Given the description of an element on the screen output the (x, y) to click on. 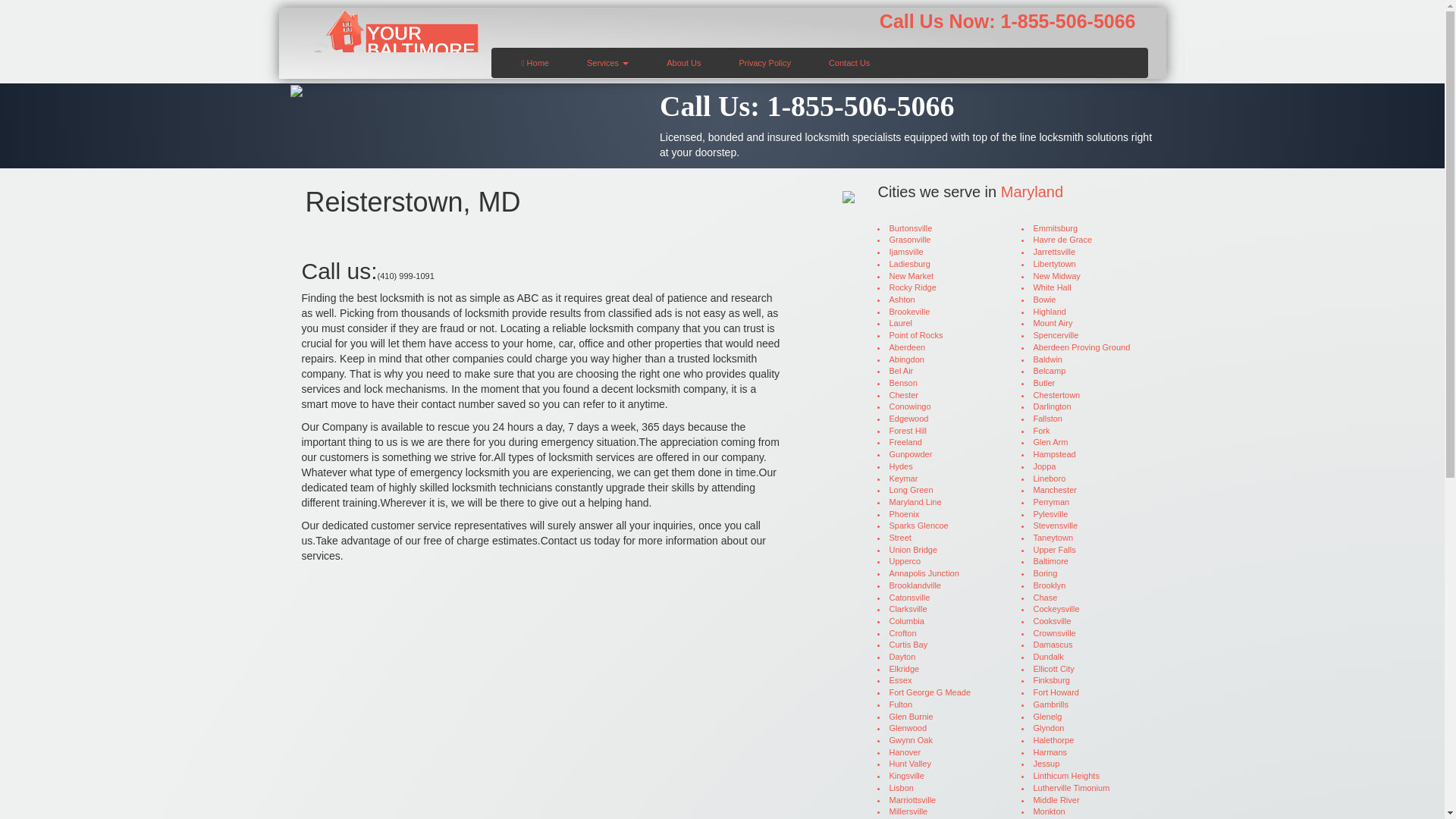
Grasonville (937, 240)
Home (534, 61)
Emmitsburg (1082, 228)
Bowie (1082, 300)
Abingdon (937, 358)
Aberdeen Proving Ground (1082, 347)
Spencerville (1082, 336)
Libertytown (1082, 264)
Rocky Ridge (937, 287)
Baldwin (1082, 358)
